Given the description of an element on the screen output the (x, y) to click on. 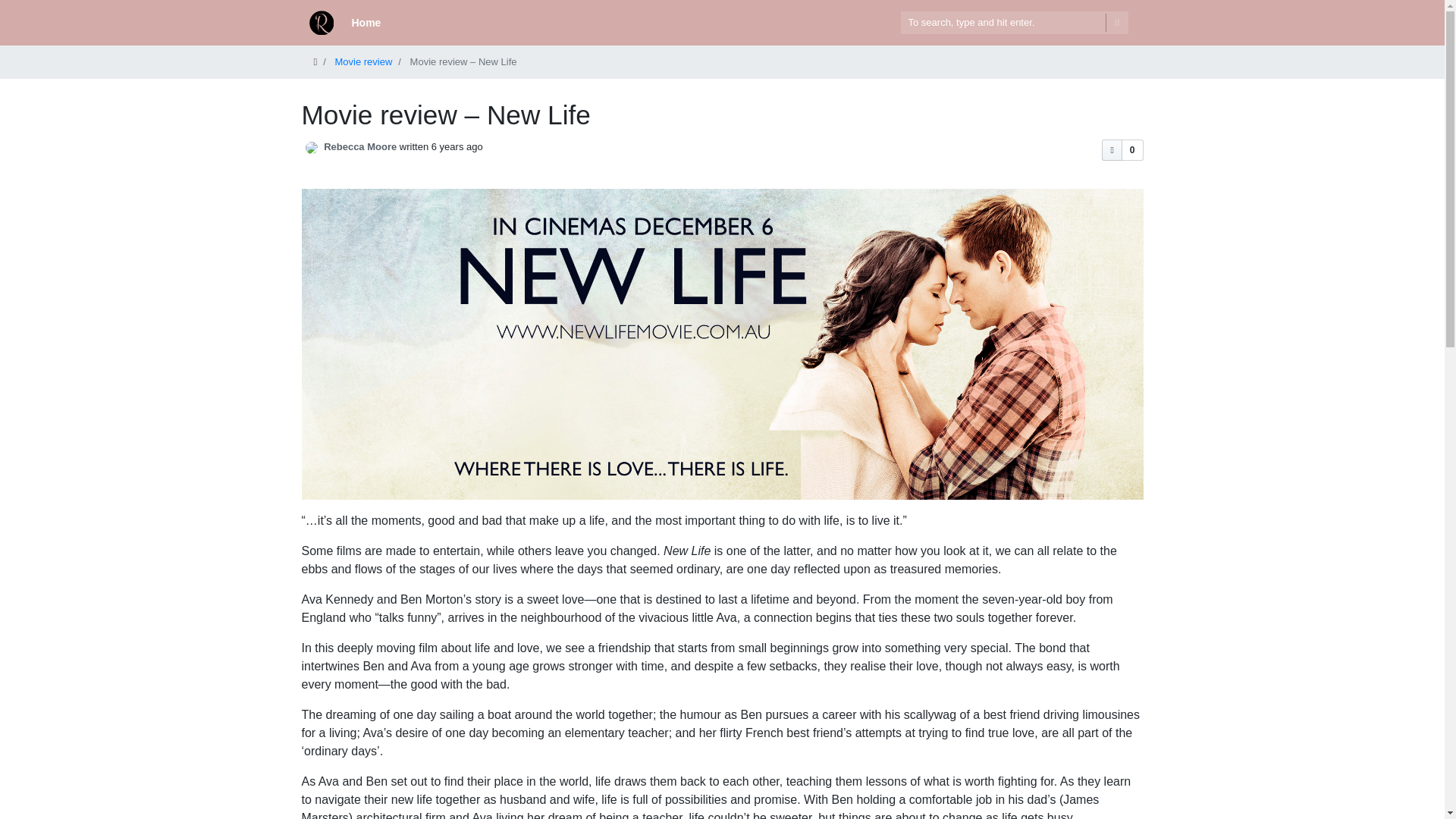
0 (1122, 149)
Movie review (363, 61)
Home (366, 22)
Rebecca Moore (359, 146)
